Given the description of an element on the screen output the (x, y) to click on. 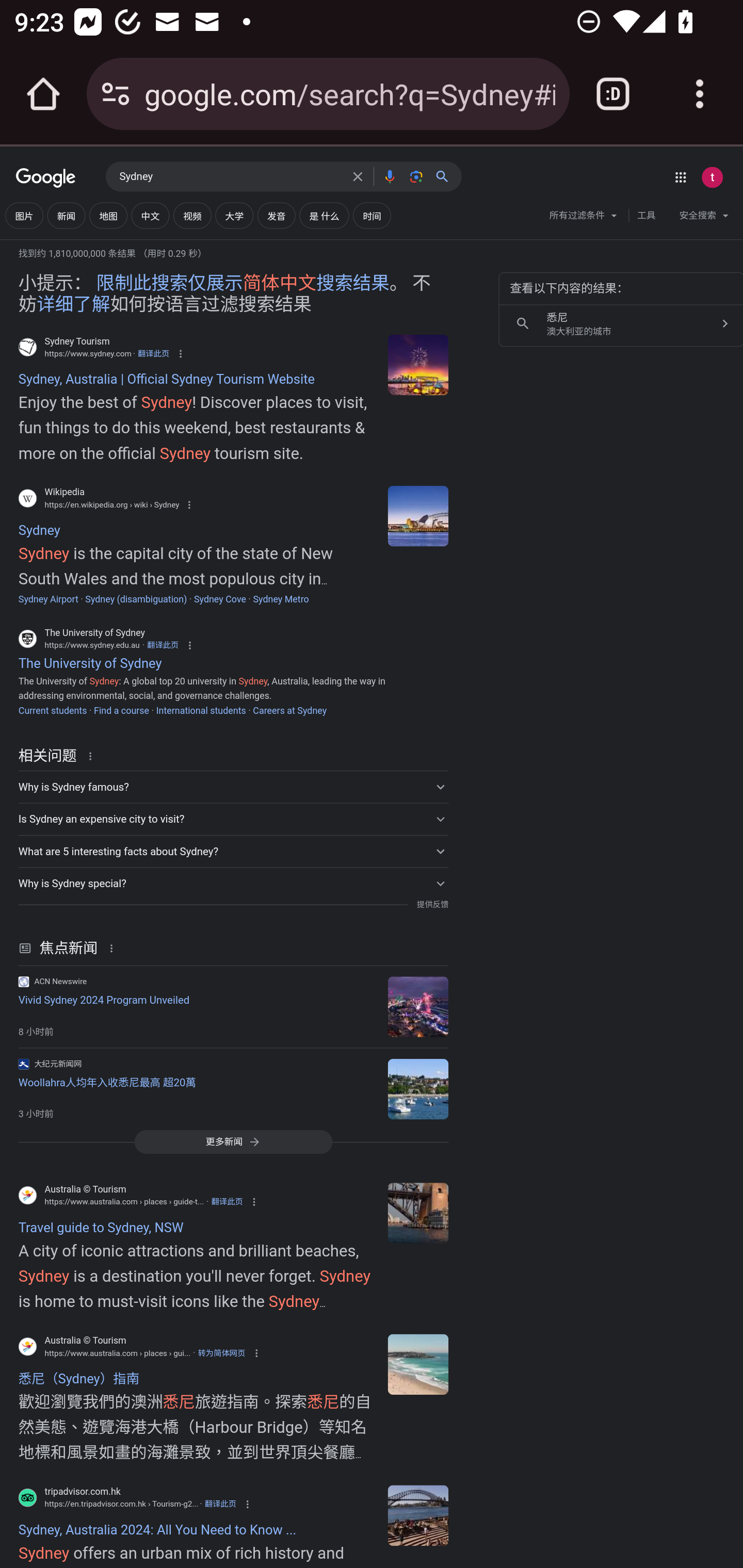
Open the home page (43, 93)
Connection is secure (115, 93)
Switch or close tabs (612, 93)
Customize and control Google Chrome (699, 93)
google.com/search?q=Sydney#ip=1 (349, 92)
清除 (357, 176)
按语音搜索 (389, 176)
按图搜索 (415, 176)
搜索 (446, 176)
Google 应用 (680, 176)
Google 账号： test appium (testappium002@gmail.com) (712, 176)
Google (45, 178)
Sydney (229, 177)
图片 (24, 215)
新闻 (65, 215)
地图 (107, 215)
添加“中文” 中文 (149, 215)
视频 (191, 215)
添加“大学” 大学 (234, 215)
添加“发音” 发音 (276, 215)
添加“是 什么” 是 什么 (324, 215)
添加“时间” 时间 (371, 215)
所有过滤条件 (583, 217)
工具 (646, 215)
安全搜索 (703, 217)
限制此搜索仅展示简体中文搜索结果 限制此搜索仅展示 简体中文 搜索结果 (242, 283)
详细了解 (73, 304)
www.sydney (417, 364)
翻译此页 (152, 353)
Sydney (417, 514)
Sydney Airport (47, 598)
Sydney (disambiguation) (135, 598)
Sydney Cove (219, 598)
Sydney Metro (280, 598)
翻译此页 (162, 644)
Current students (51, 710)
Find a course (121, 710)
International students (200, 710)
Careers at Sydney (289, 710)
关于这条结果的详细信息 (93, 754)
Why is Sydney famous? (232, 785)
Is Sydney an expensive city to visit? (232, 818)
What are 5 interesting facts about Sydney? (232, 851)
Why is Sydney special? (232, 883)
提供反馈 (432, 904)
关于这条结果的详细信息 (114, 947)
更多新闻 (232, 1141)
guide-to-sydney (417, 1212)
翻译此页 (226, 1201)
guide-to-sydney (417, 1364)
转为简体网页 (220, 1352)
Tourism-g255060-Sydney_New_South_Wales-Vacations (417, 1515)
翻译此页 (220, 1503)
